Given the description of an element on the screen output the (x, y) to click on. 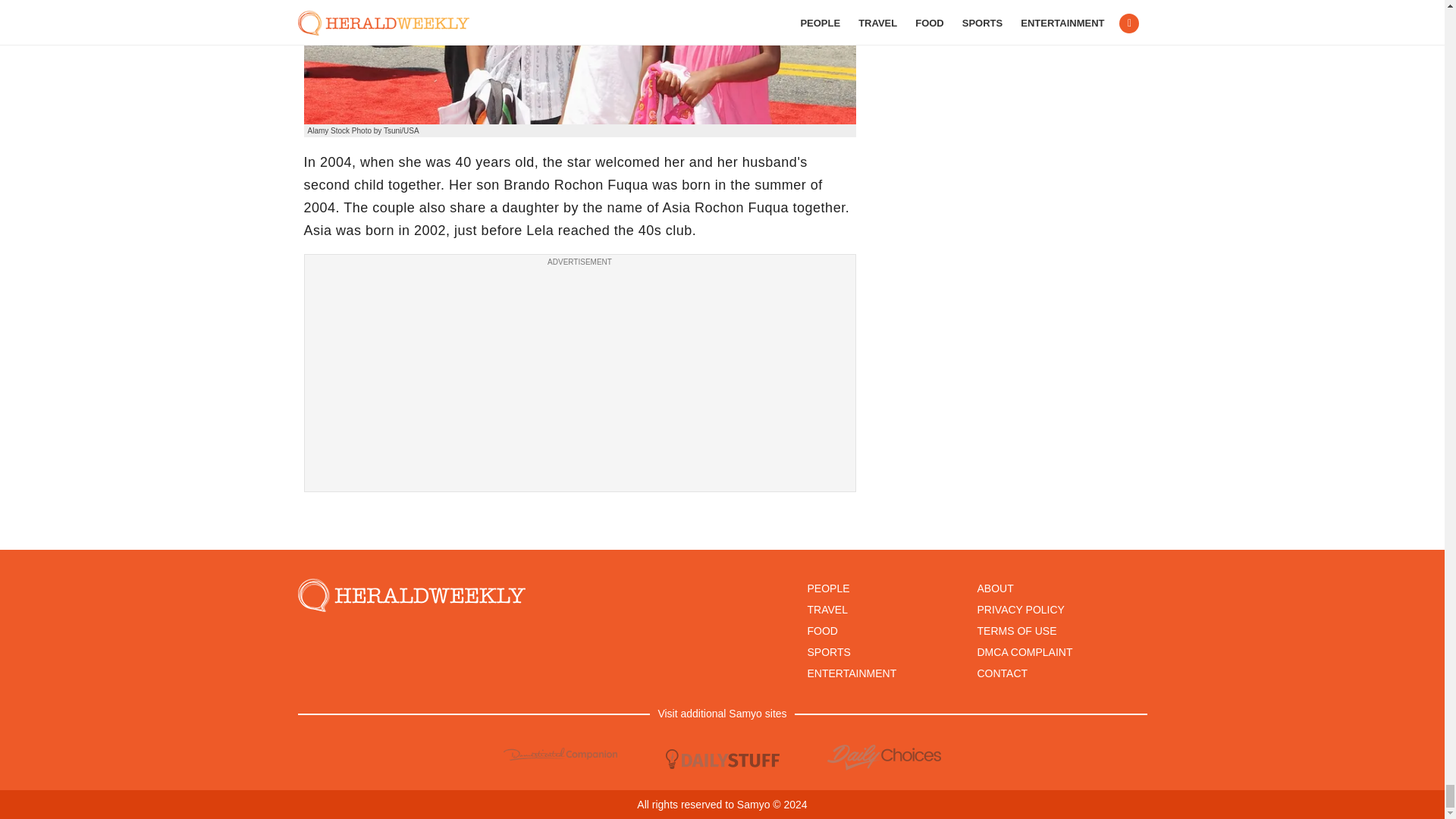
DMCA COMPLAINT (1023, 652)
SPORTS (828, 652)
TERMS OF USE (1016, 630)
PEOPLE (827, 588)
ENTERTAINMENT (851, 673)
TRAVEL (826, 609)
FOOD (821, 630)
ABOUT (994, 588)
PRIVACY POLICY (1020, 609)
CONTACT (1001, 673)
